Given the description of an element on the screen output the (x, y) to click on. 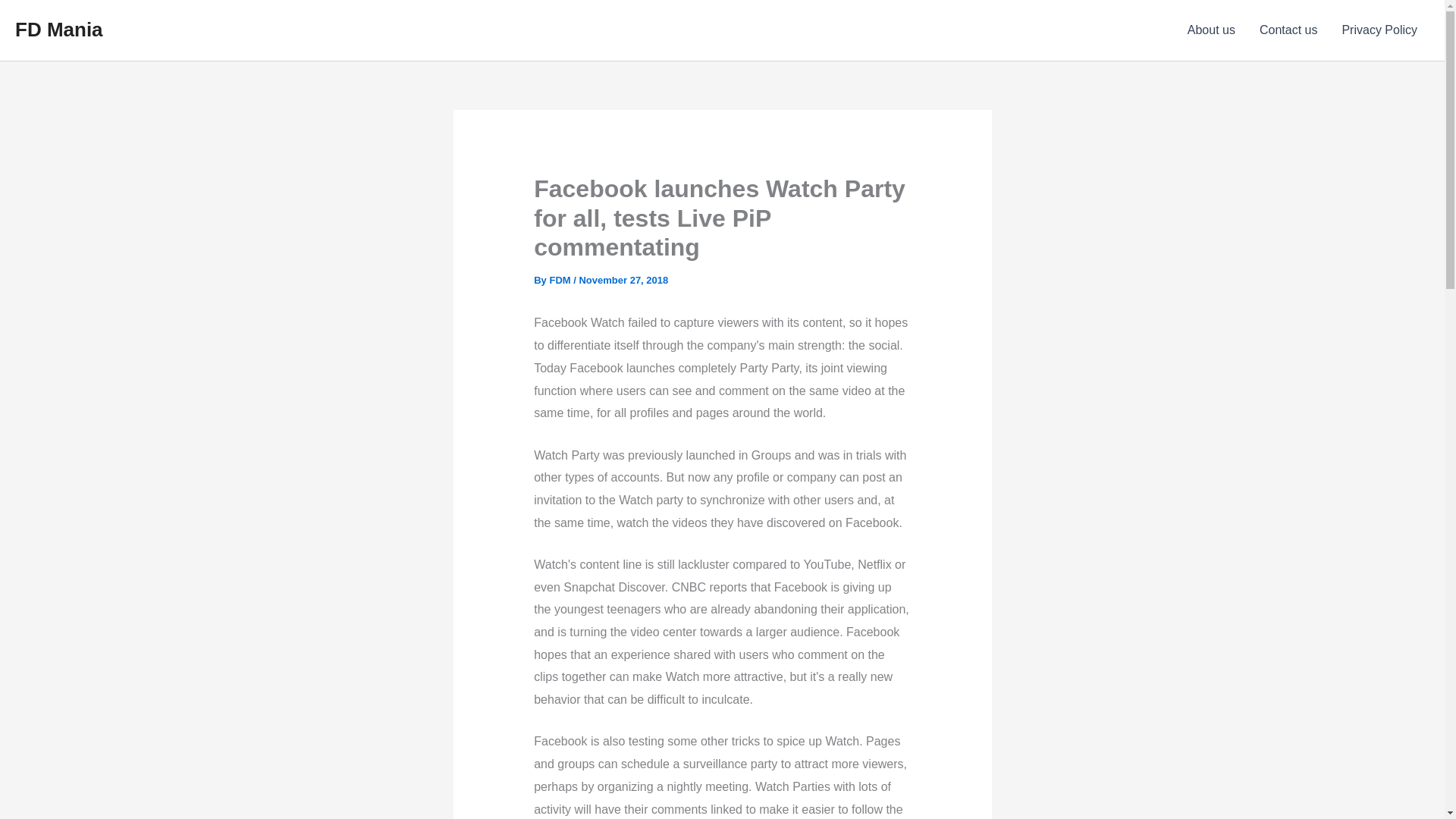
Contact us (1288, 30)
FD Mania (58, 29)
About us (1210, 30)
FDM (560, 279)
Privacy Policy (1379, 30)
View all posts by FDM (560, 279)
